Given the description of an element on the screen output the (x, y) to click on. 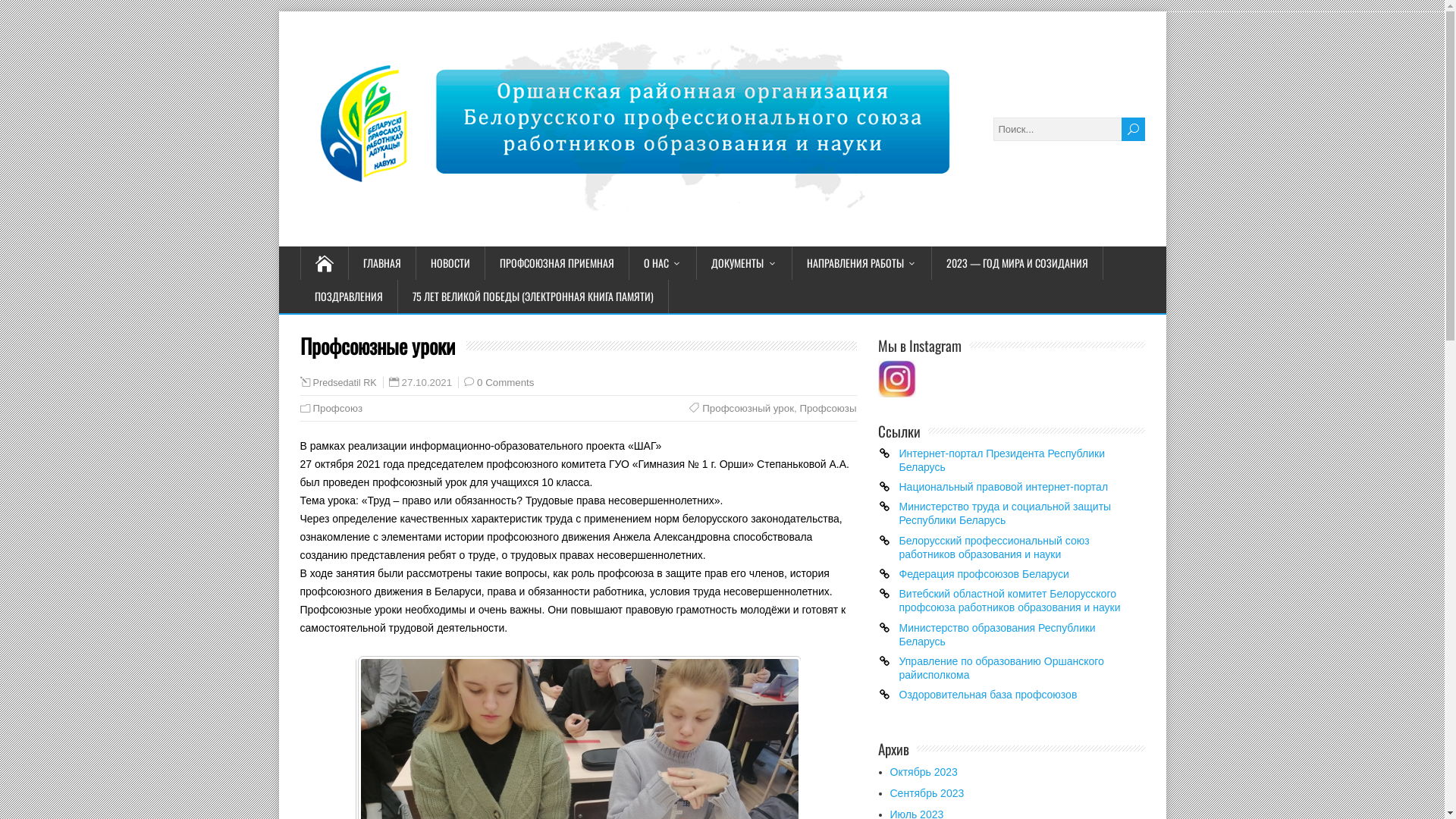
0 Comments Element type: text (504, 382)
U Element type: text (1132, 129)
Predsedatil RK Element type: text (344, 382)
